Given the description of an element on the screen output the (x, y) to click on. 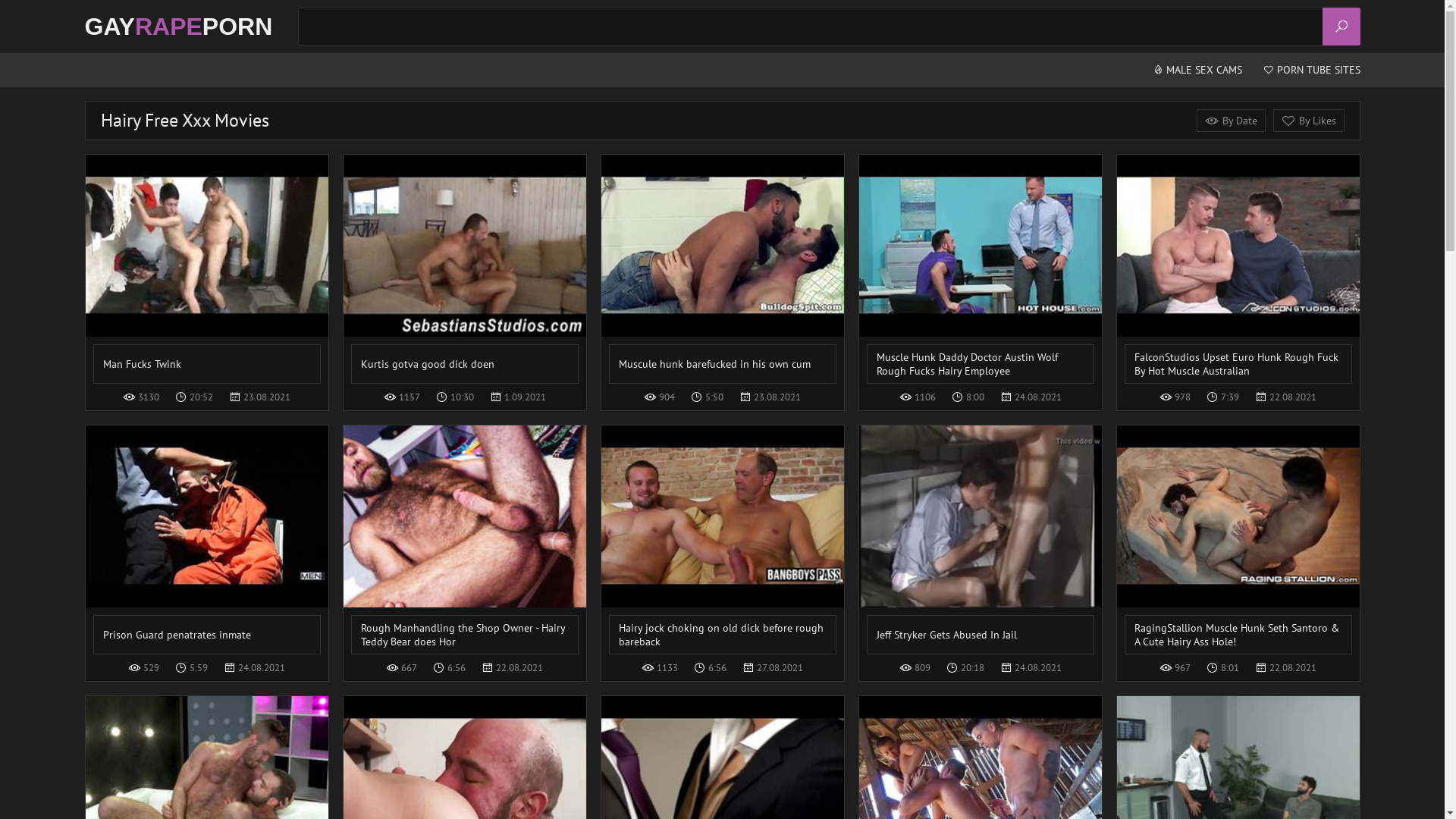
By Likes Element type: text (1307, 120)
Jeff Stryker Gets Abused In Jail Element type: text (979, 539)
Man Fucks Twink Element type: text (205, 268)
GAYRAPEPORN Element type: text (178, 26)
MALE SEX CAMS Element type: text (1197, 70)
Rough Manhandling the Shop Owner - Hairy Teddy Bear does Hor Element type: text (463, 539)
Muscule hunk barefucked in his own cum Element type: text (721, 268)
PORN TUBE SITES Element type: text (1311, 70)
Find Element type: hover (1341, 26)
Prison Guard penatrates inmate Element type: text (205, 539)
Hairy jock choking on old dick before rough bareback Element type: text (721, 539)
By Date Element type: text (1230, 120)
Kurtis gotva good dick doen Element type: text (463, 268)
